Given the description of an element on the screen output the (x, y) to click on. 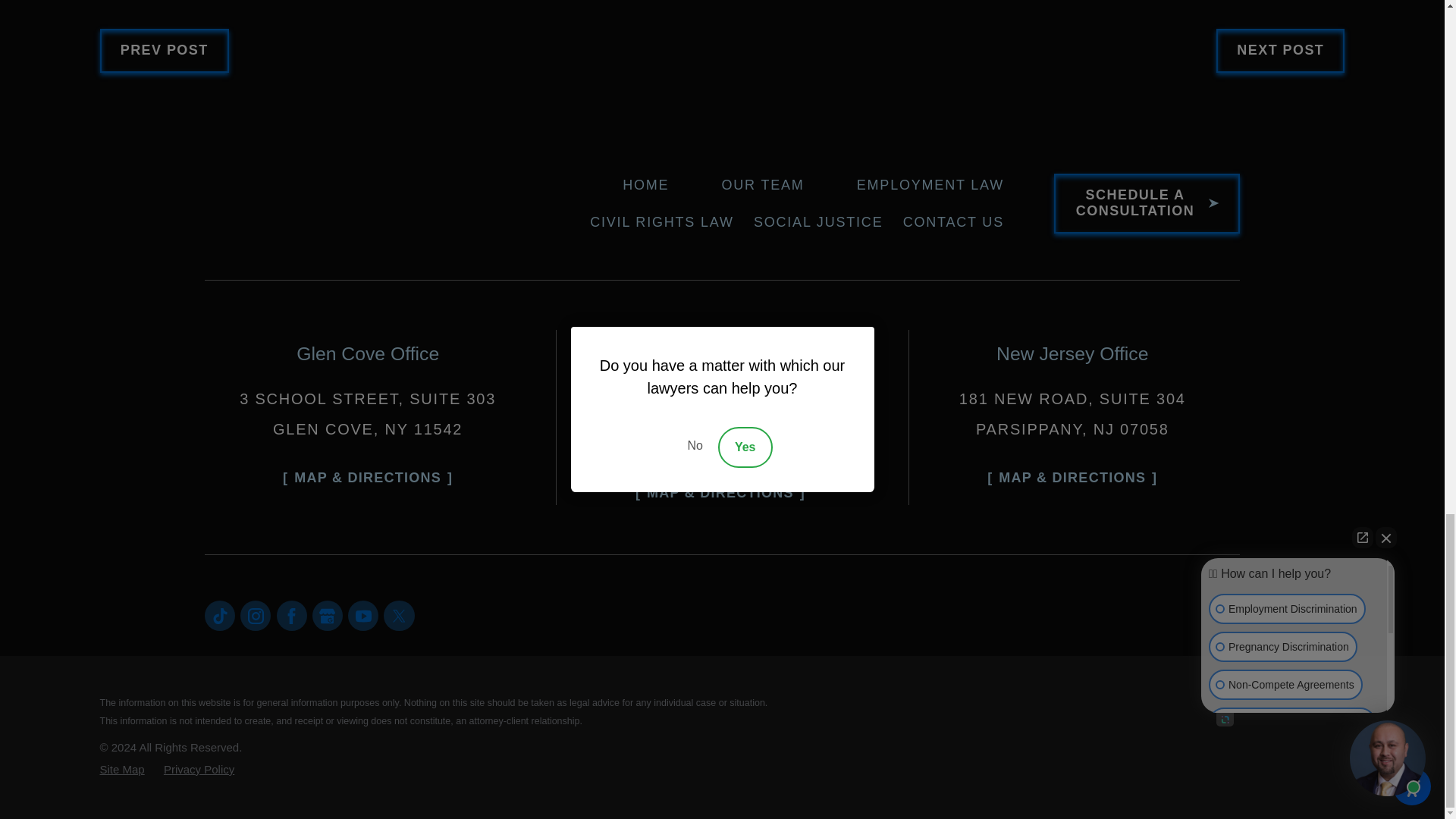
YouTube (362, 615)
Twitter (398, 615)
Google Business Profile (327, 615)
Instagram (255, 615)
TikTok (219, 615)
Facebook (291, 615)
